Given the description of an element on the screen output the (x, y) to click on. 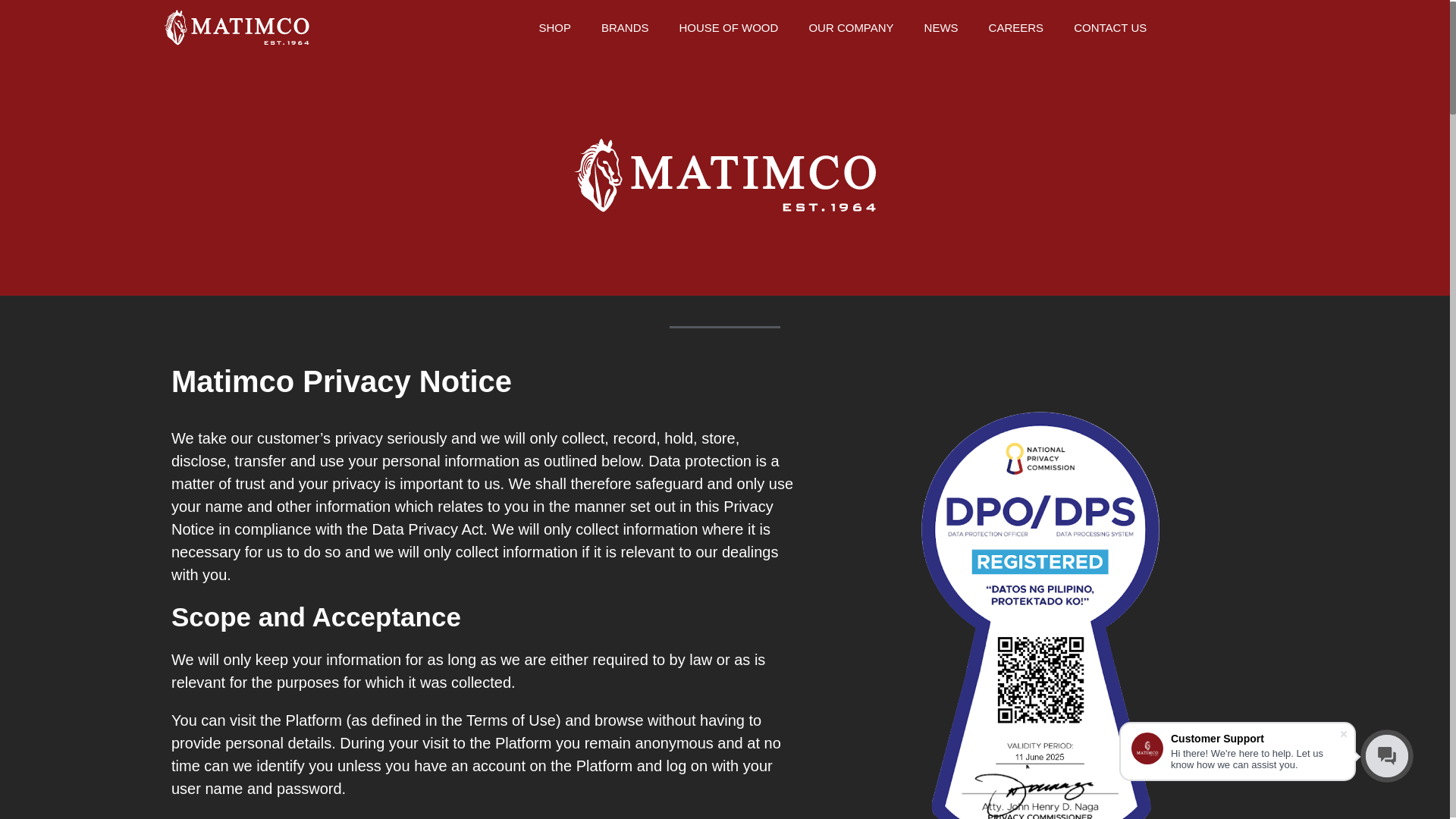
BRANDS (624, 27)
SHOP (554, 27)
CAREERS (1016, 27)
NEWS (941, 27)
CONTACT US (1109, 27)
HOUSE OF WOOD (728, 27)
OUR COMPANY (850, 27)
